Given the description of an element on the screen output the (x, y) to click on. 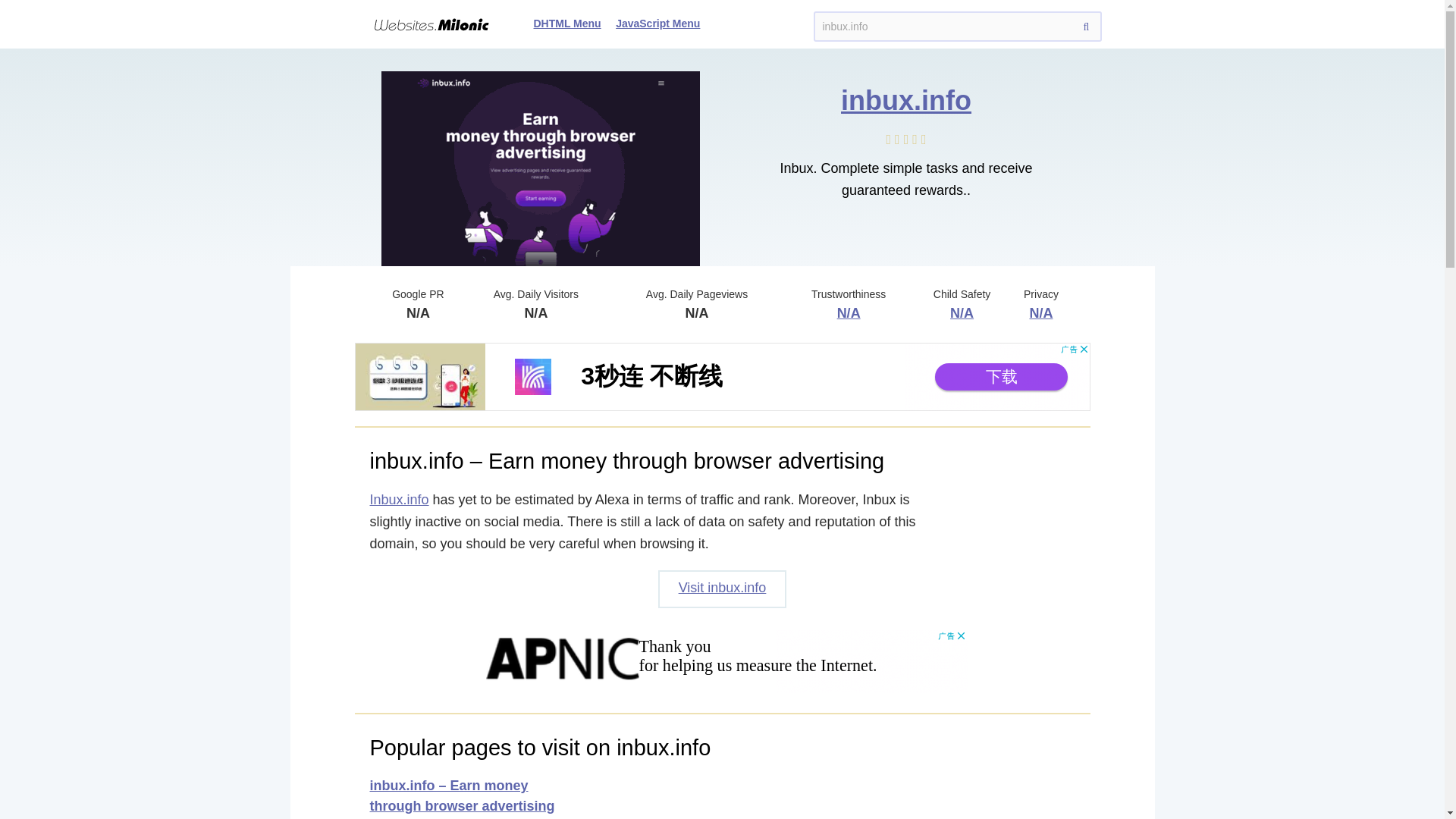
Visit inbux.info (722, 589)
JavaScript Menu (657, 23)
inbux.info (956, 26)
inbux.info (906, 100)
Inbux.info (399, 499)
Advertisement (722, 663)
Advertisement (722, 377)
DHTML Menu (567, 23)
